Given the description of an element on the screen output the (x, y) to click on. 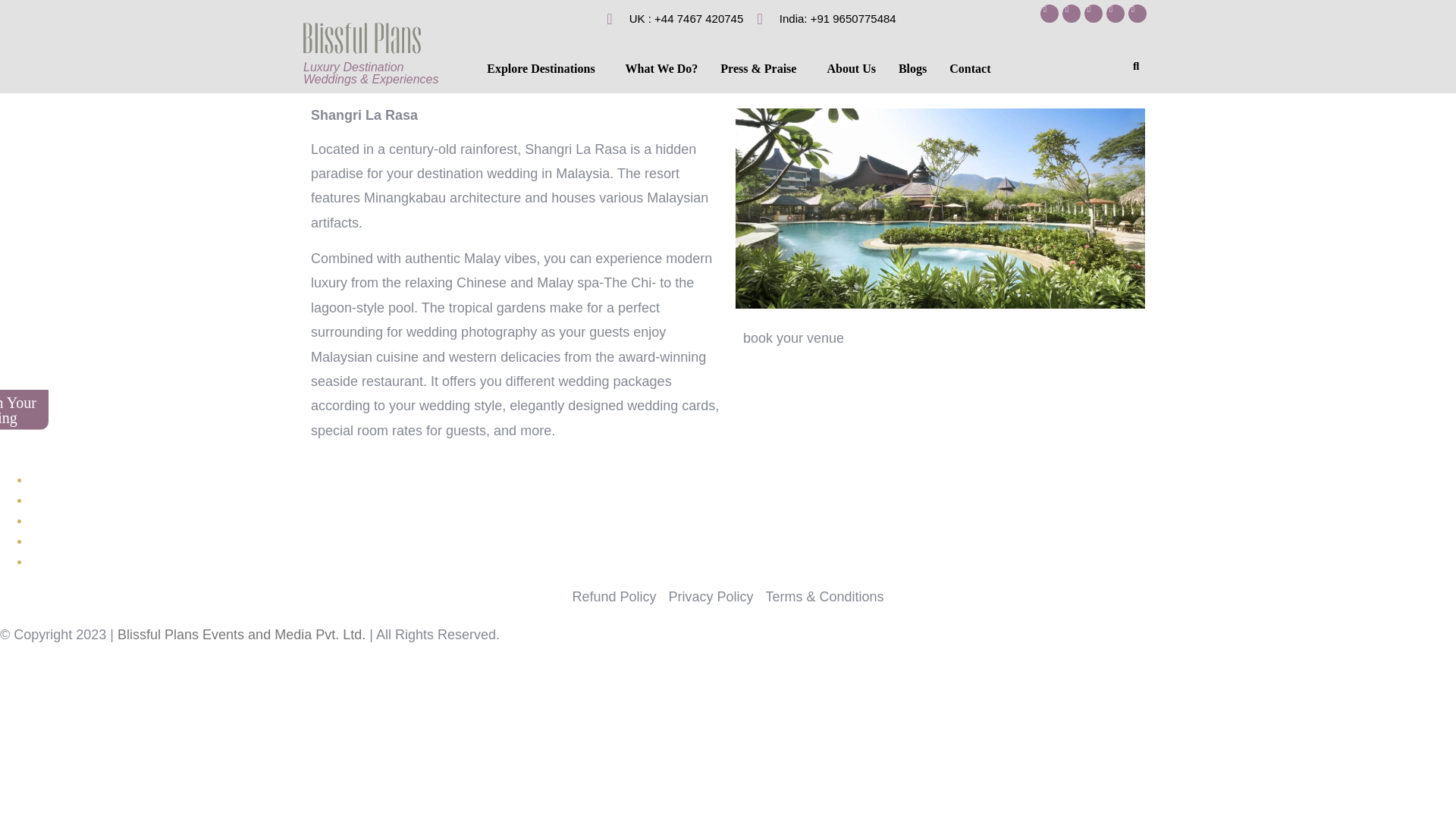
Explore Destinations (544, 68)
